Given the description of an element on the screen output the (x, y) to click on. 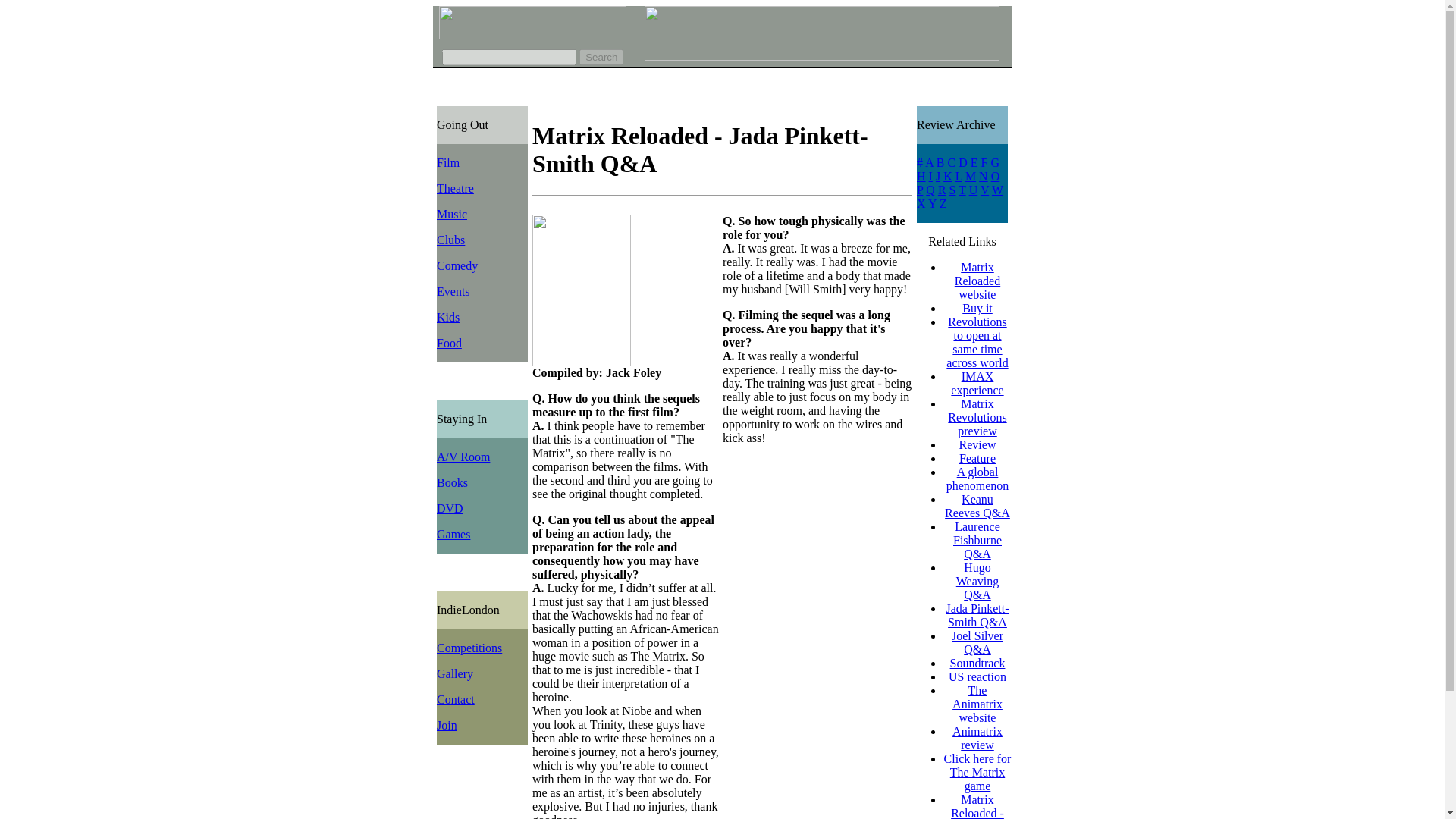
Books (451, 481)
Competitions (469, 647)
Clubs (450, 239)
Games (453, 533)
Food (448, 342)
Gallery (454, 673)
Join (446, 725)
Kids (448, 317)
Search (601, 57)
Film (448, 162)
